Given the description of an element on the screen output the (x, y) to click on. 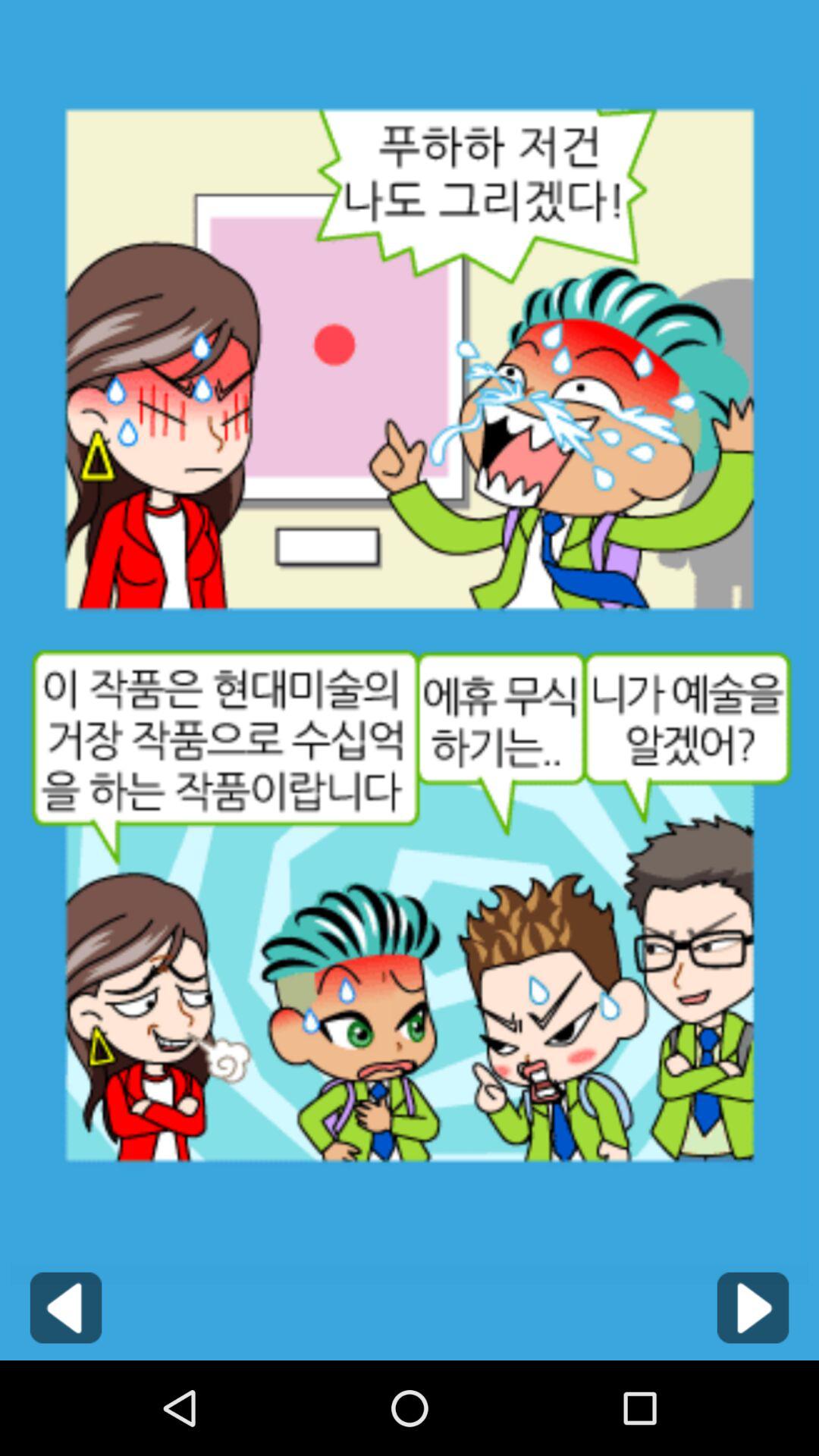
go next (752, 1307)
